Given the description of an element on the screen output the (x, y) to click on. 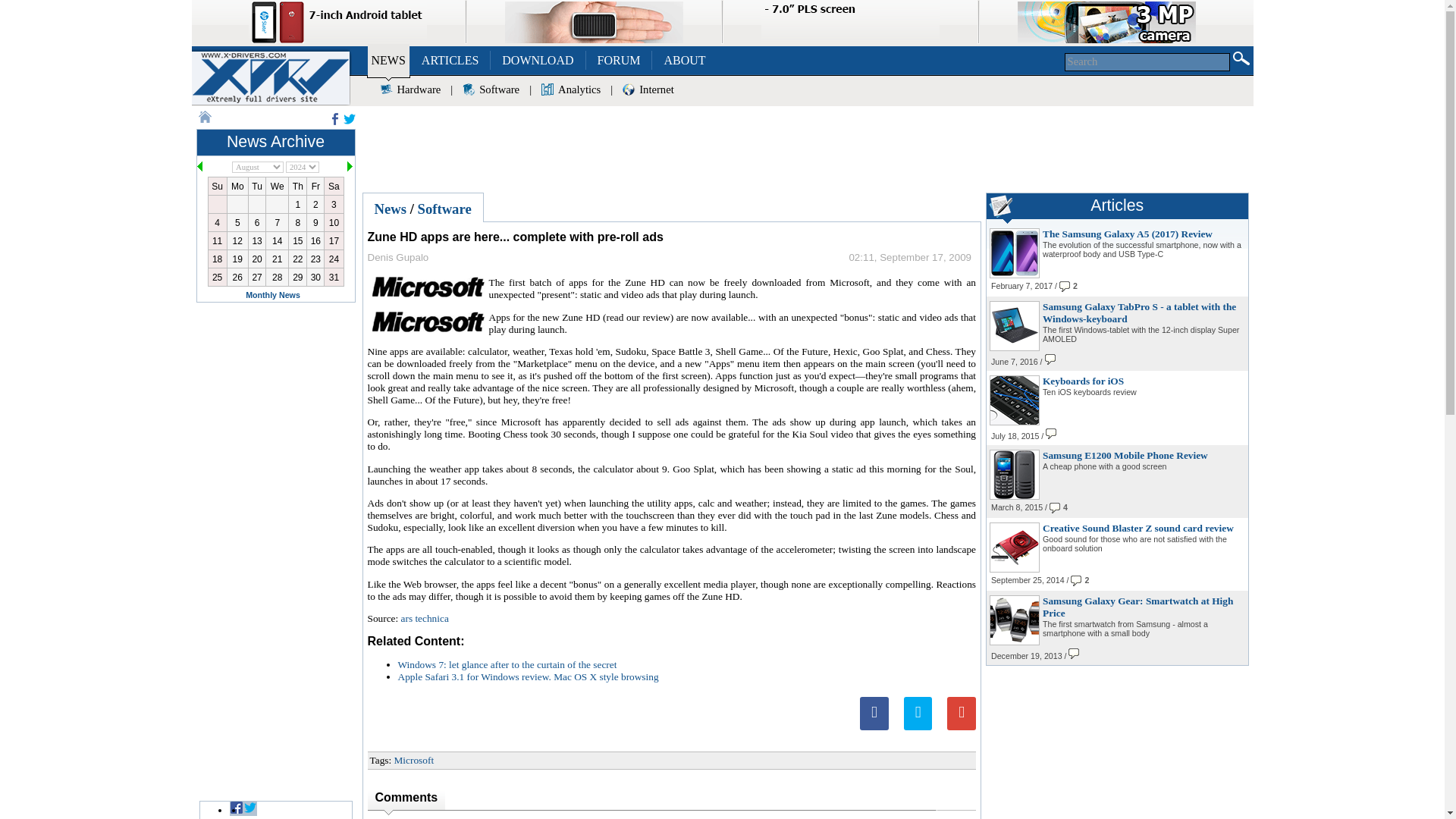
X-DRIVERS.COM Facebook (334, 119)
Search (1147, 62)
Microsoft logo (427, 286)
Keyboards for iOS (1014, 421)
Logitech Cube Review. Stylish Wireless Mouse and Presenter (593, 22)
Samsung Galaxy TabPro S - a tablet with the Windows-keyboard (1014, 347)
Samsung E1200 Mobile Phone Review (1014, 496)
Creative Sound Blaster Z sound card review (1014, 569)
